Given the description of an element on the screen output the (x, y) to click on. 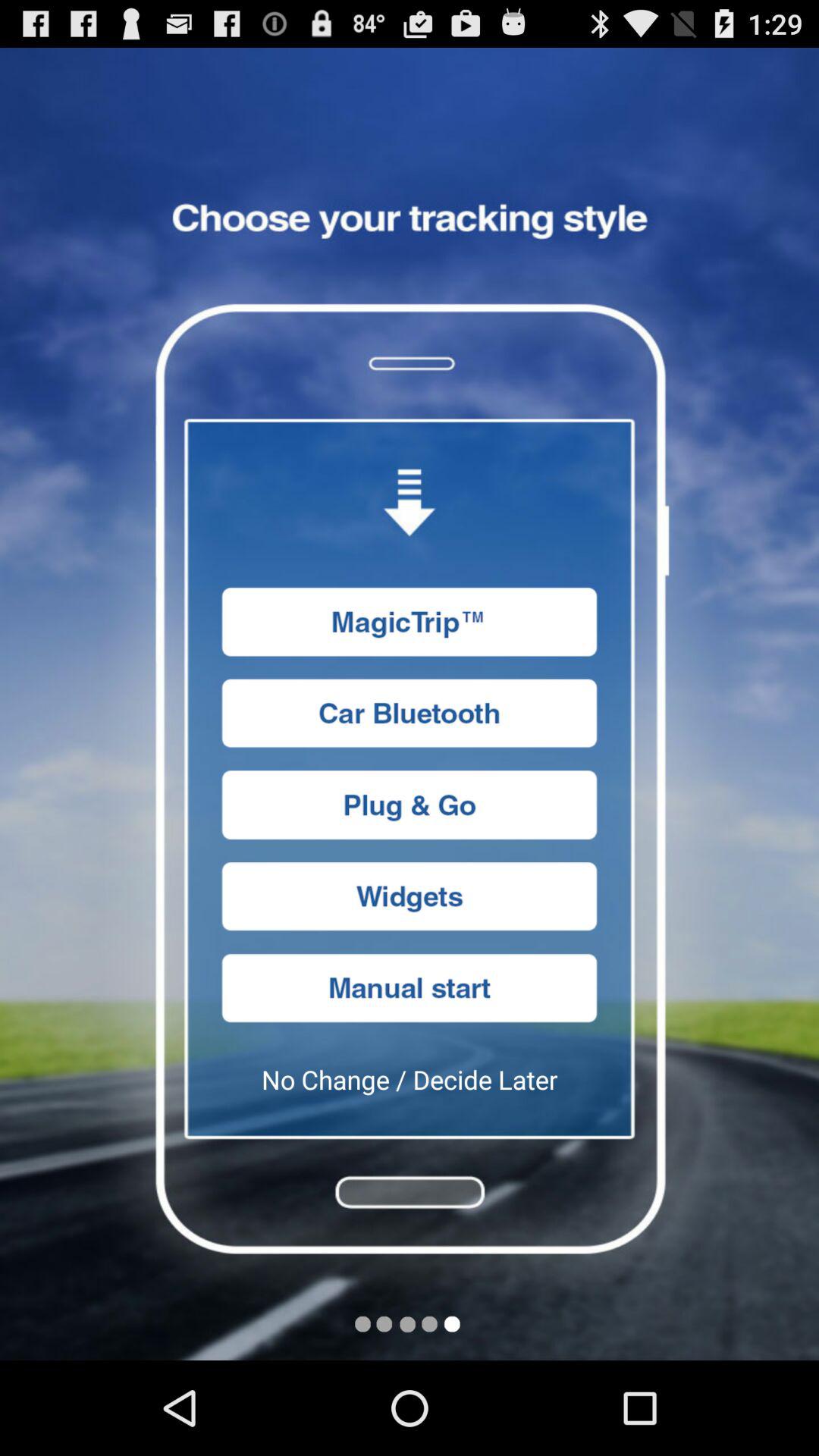
select car bluetooth (409, 713)
